Given the description of an element on the screen output the (x, y) to click on. 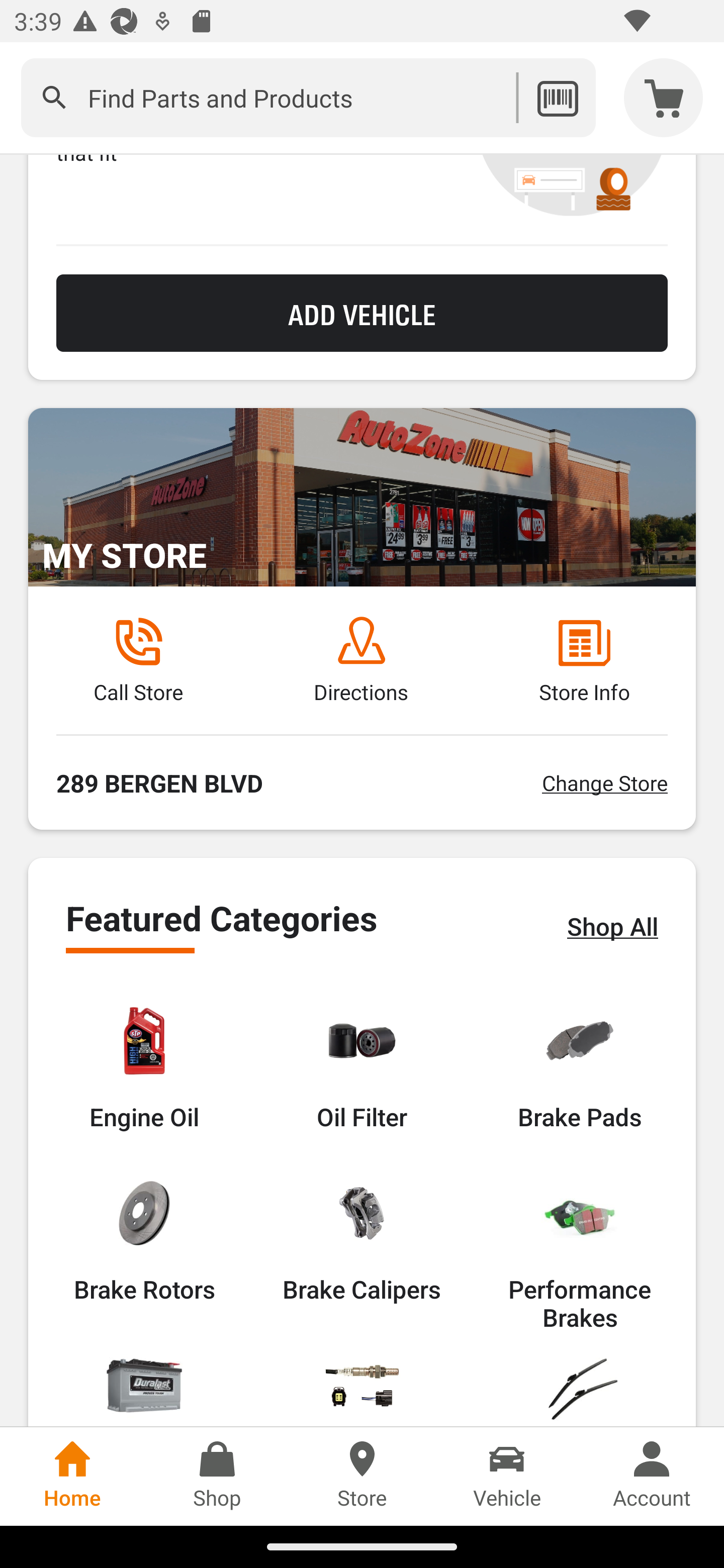
 scan-product-to-search  (557, 97)
 (54, 97)
Cart, no items  (663, 97)
ADD VEHICLE (361, 312)
Call Store  Call Store (138, 659)
Directions  Directions (361, 659)
Store Info  Store Info (584, 659)
Change Selected Store Change Store (604, 782)
Shop All Featured Categories Shop All (612, 925)
Engine Oil (144, 1066)
Oil Filter (361, 1066)
Brake Pads (579, 1066)
Brake Rotors (144, 1239)
Brake Calipers (361, 1239)
Performance Brakes (579, 1253)
Home (72, 1475)
Shop (216, 1475)
Store (361, 1475)
Vehicle (506, 1475)
Account (651, 1475)
